Given the description of an element on the screen output the (x, y) to click on. 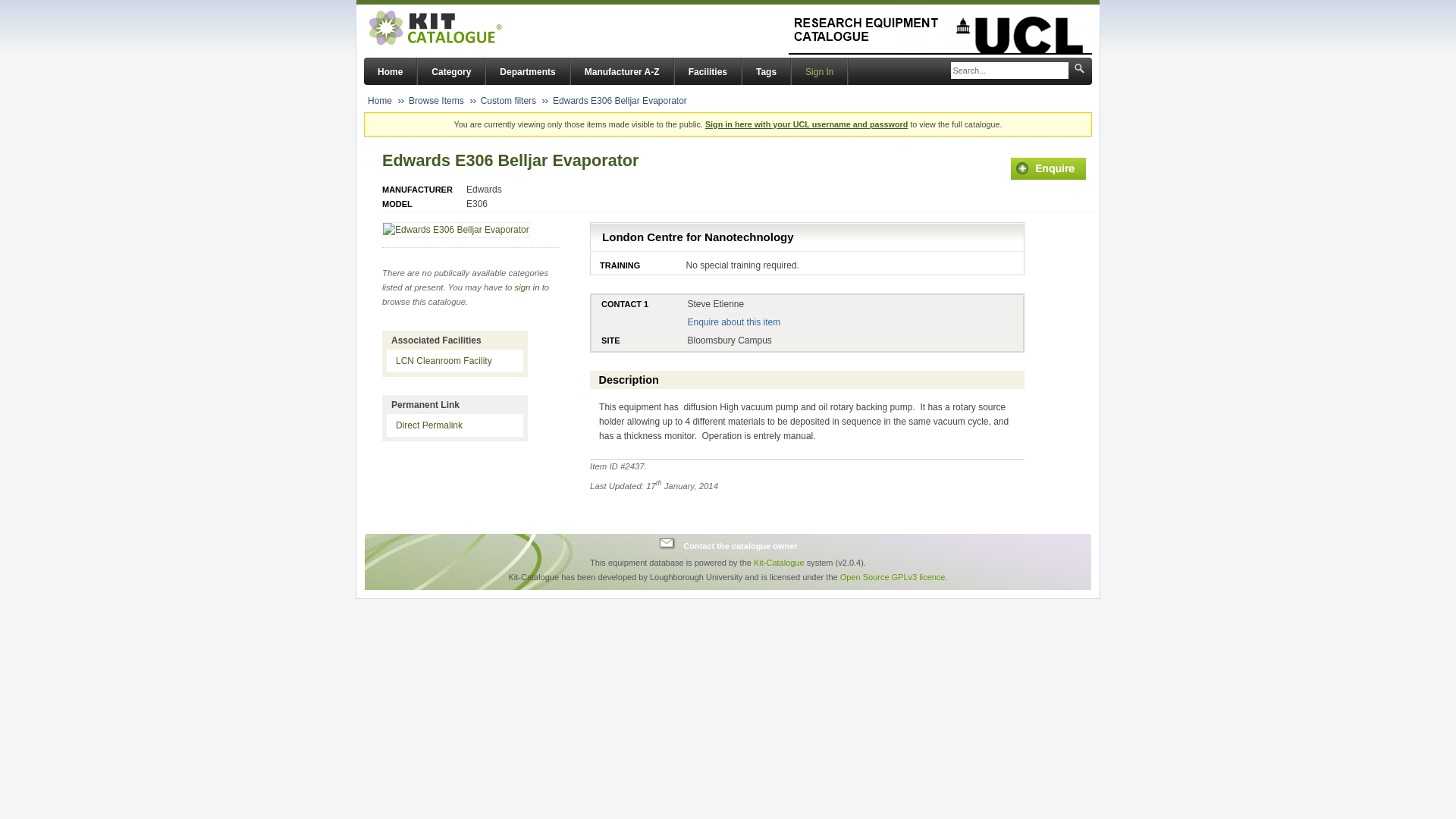
Tags (766, 71)
LCN Cleanroom Facility (444, 360)
Sign in here with your UCL username and password (805, 123)
Open Source GPLv3 licence (892, 576)
sign in (527, 286)
Manufacturer A-Z (621, 71)
Browse Items (436, 100)
Facilities (708, 71)
Home (379, 100)
Search... (1008, 70)
